Given the description of an element on the screen output the (x, y) to click on. 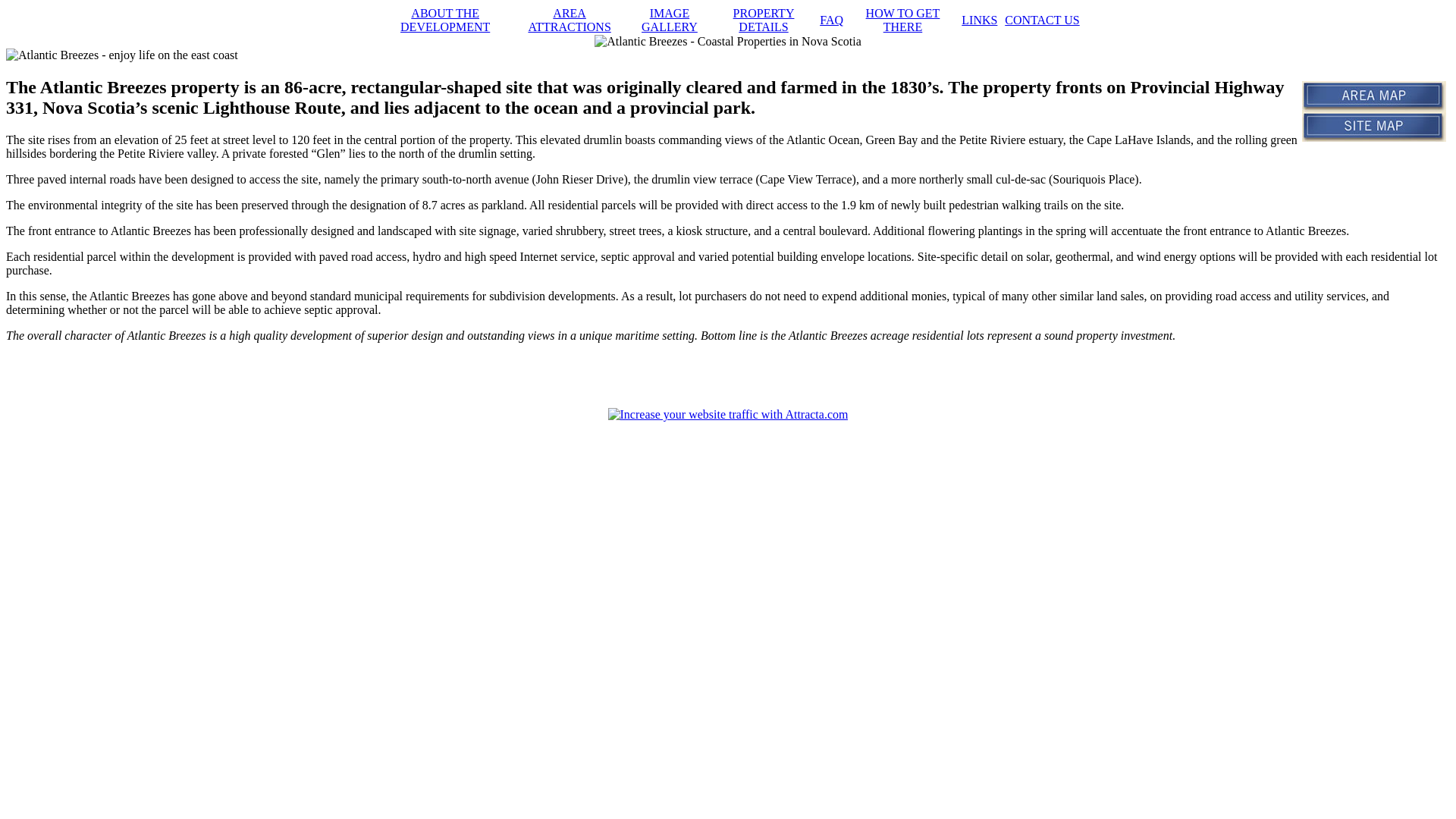
HOW TO GET THERE Element type: text (903, 19)
FAQ Element type: text (831, 19)
PROPERTY DETAILS Element type: text (763, 19)
Site map Element type: hover (1374, 126)
IMAGE GALLERY Element type: text (669, 19)
ABOUT THE DEVELOPMENT Element type: text (444, 19)
Area map Element type: hover (1374, 96)
AREA ATTRACTIONS Element type: text (568, 19)
LINKS Element type: text (979, 19)
CONTACT US Element type: text (1041, 19)
